Given the description of an element on the screen output the (x, y) to click on. 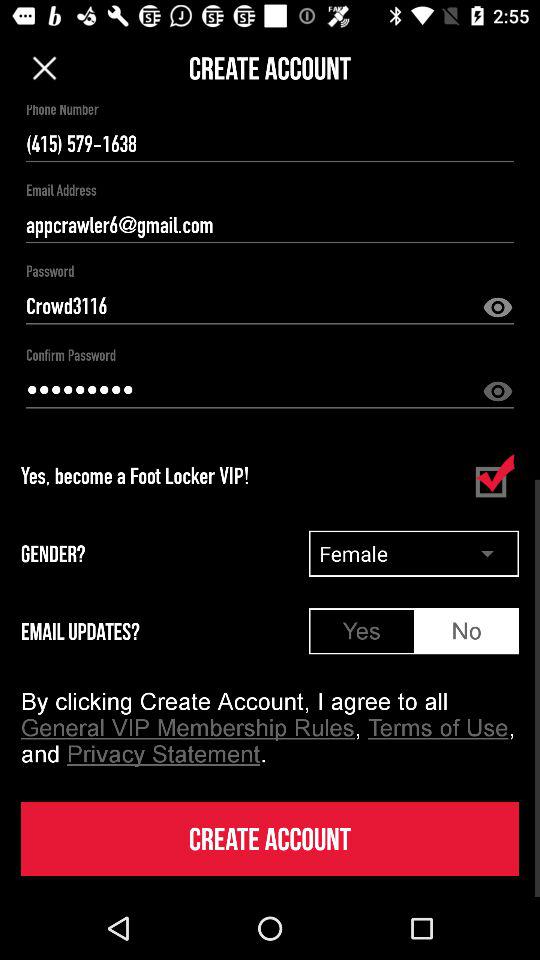
reveal password (498, 392)
